Given the description of an element on the screen output the (x, y) to click on. 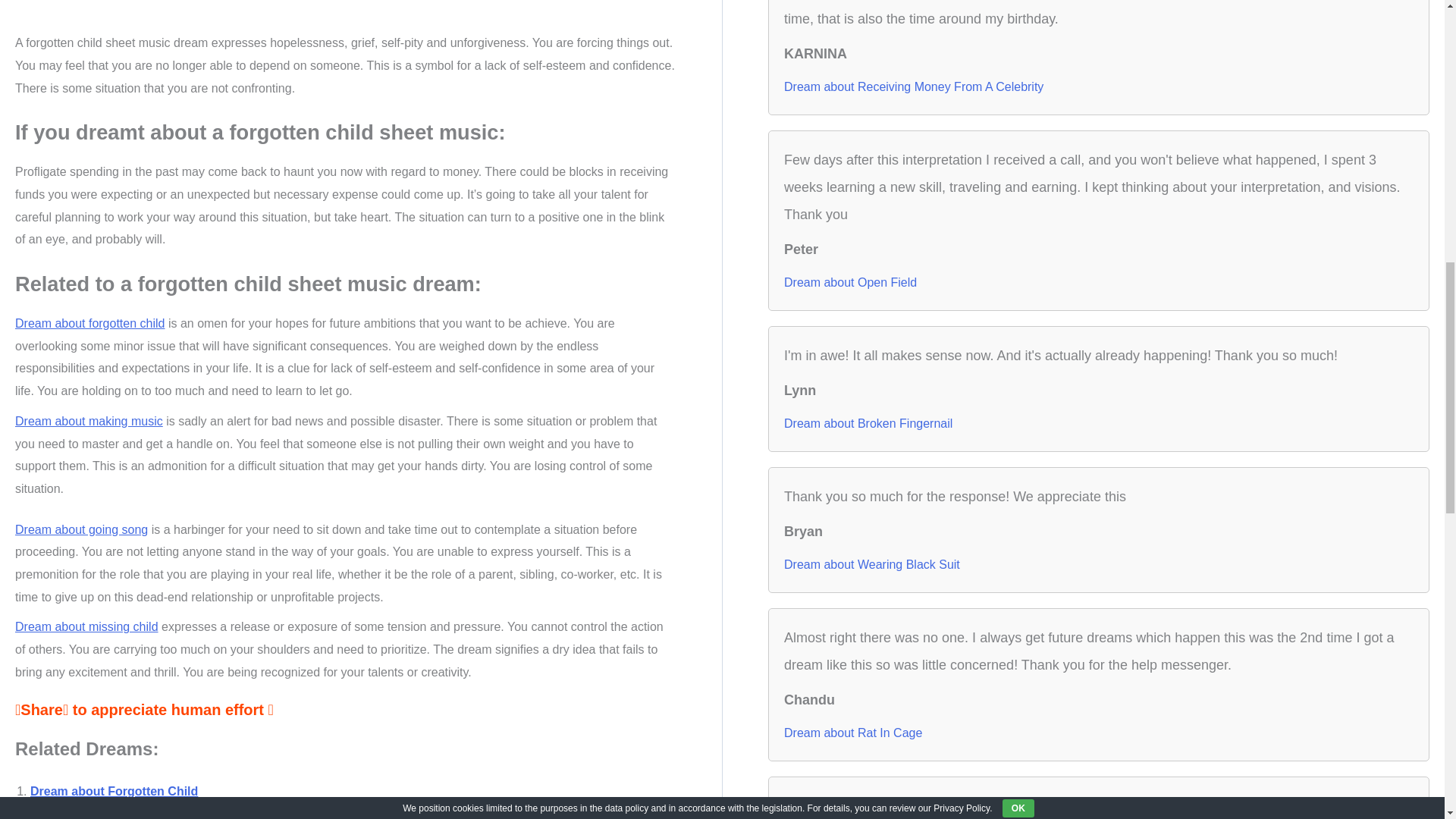
Dream about Rat In Cage (852, 733)
Dream about missing child (86, 626)
Dream about Forgotten Child (114, 790)
Dream about Broken Fingernail (868, 423)
Dream about An Absolution Sheet Music (146, 816)
Dream about making music (88, 420)
Dream about forgotten child (89, 323)
Dream about An Absolution Sheet Music (146, 816)
Advertisement (344, 12)
Dream about Open Field (850, 282)
